Given the description of an element on the screen output the (x, y) to click on. 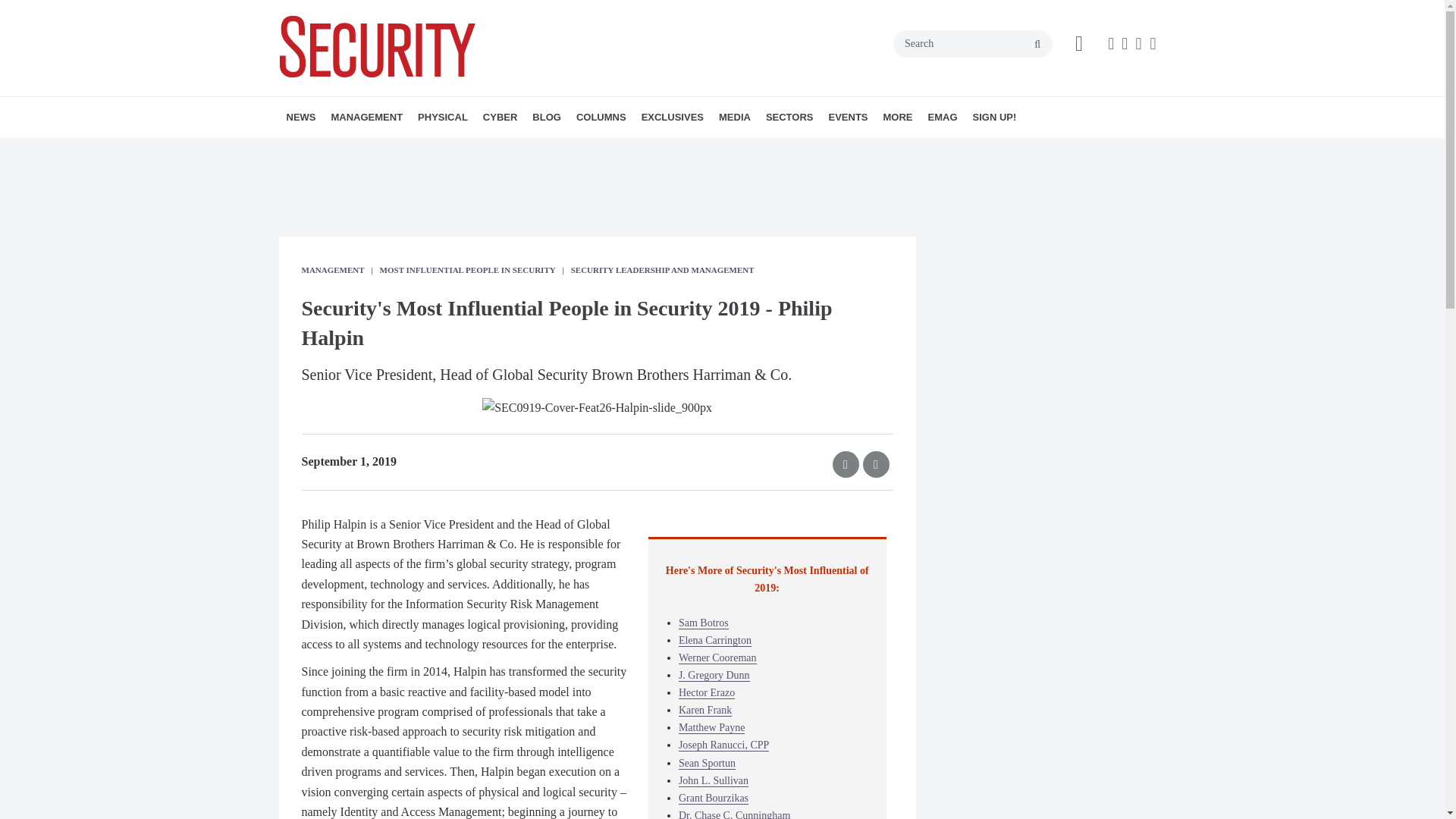
PHYSICAL (443, 117)
COLUMNS (601, 117)
IDENTITY MANAGEMENT (517, 150)
LEADERSHIP MANAGEMENT (417, 150)
SECURITY TALK (676, 150)
ACCESS MANAGEMENT (504, 150)
CYBER (500, 117)
SECURITY NEWSWIRE (373, 150)
Search (972, 43)
ENTERPRISE SERVICES (424, 150)
